Given the description of an element on the screen output the (x, y) to click on. 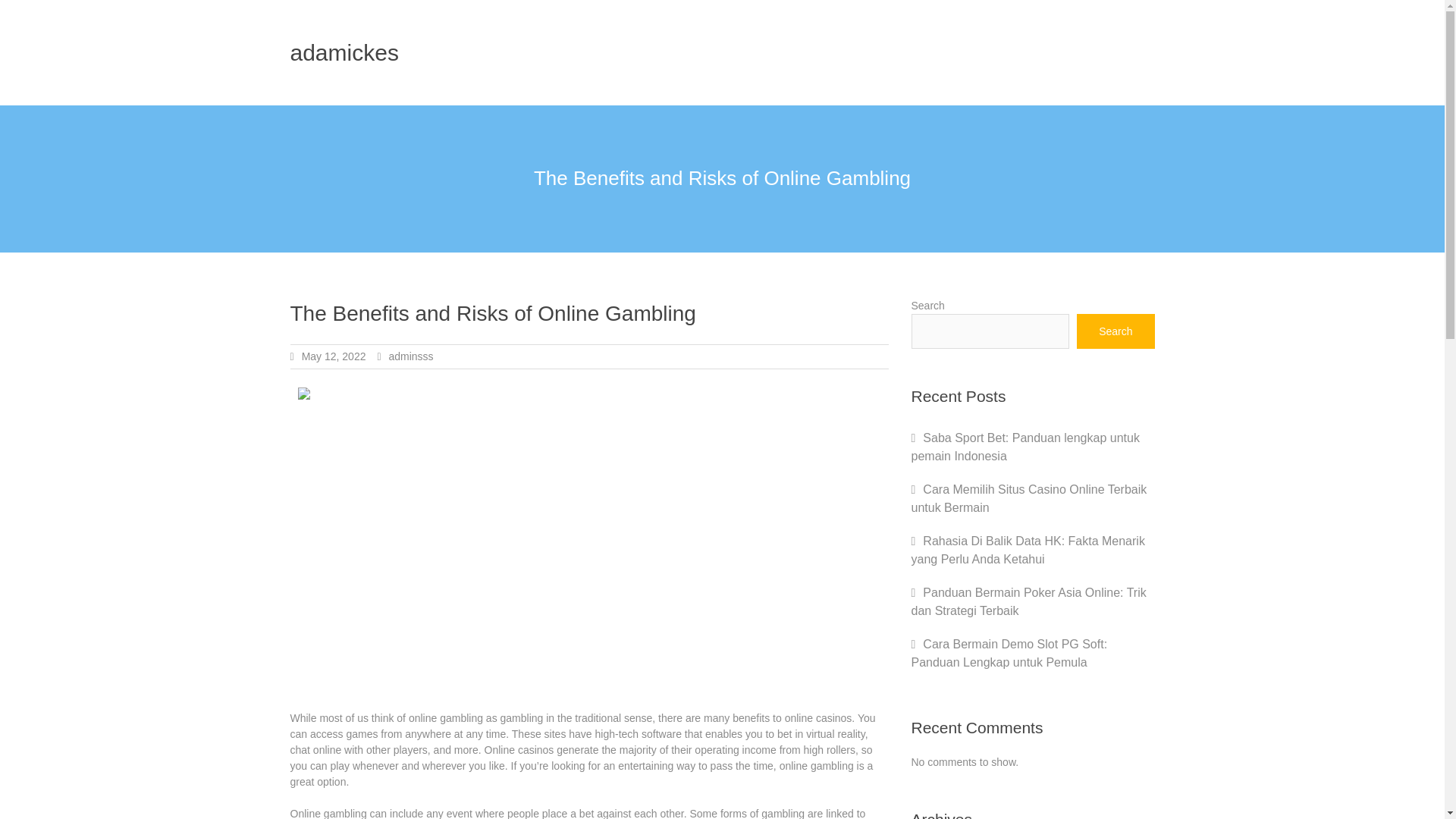
Cara Bermain Demo Slot PG Soft: Panduan Lengkap untuk Pemula (1009, 653)
adamickes (343, 52)
May 12, 2022 (333, 356)
Saba Sport Bet: Panduan lengkap untuk pemain Indonesia (1025, 446)
Search (1115, 330)
Cara Memilih Situs Casino Online Terbaik untuk Bermain (1029, 498)
Panduan Bermain Poker Asia Online: Trik dan Strategi Terbaik (1029, 601)
adminsss (410, 356)
